Given the description of an element on the screen output the (x, y) to click on. 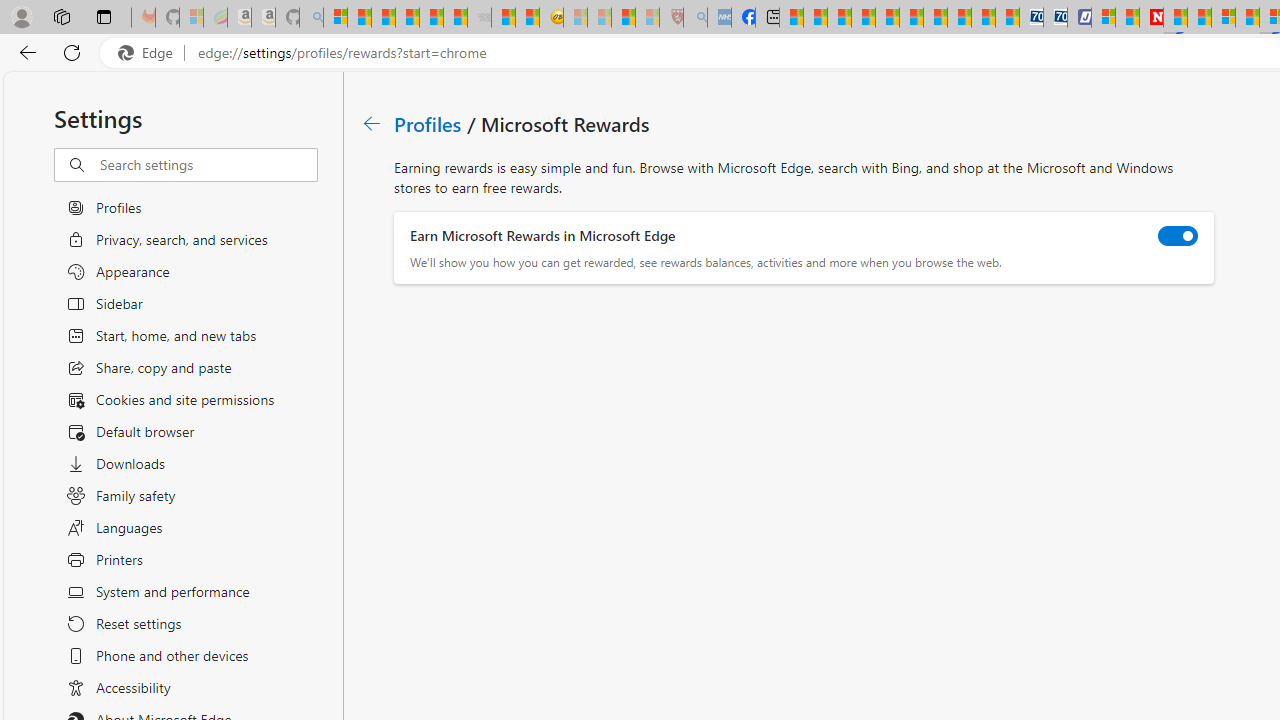
Search settings (207, 165)
